Given the description of an element on the screen output the (x, y) to click on. 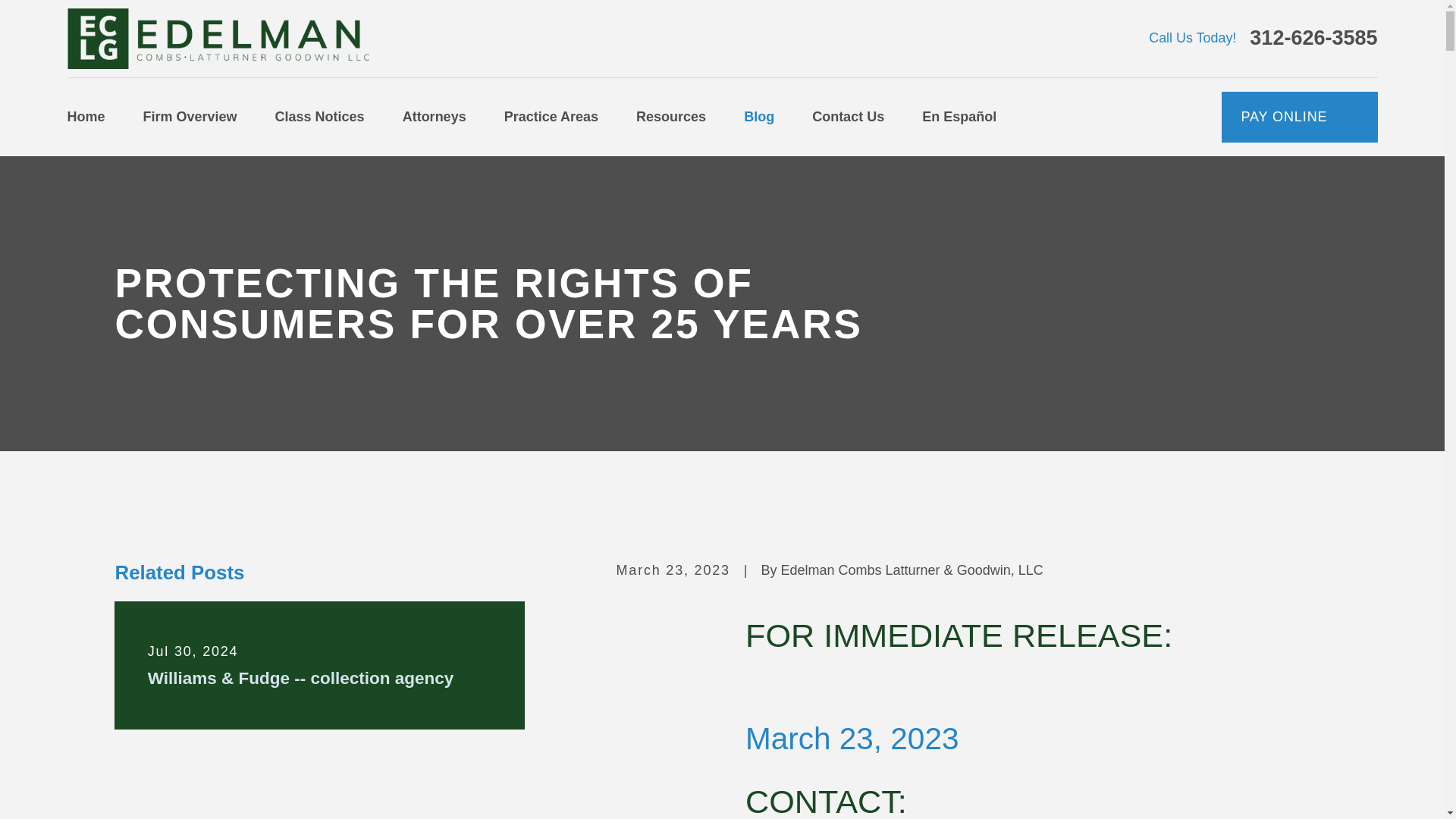
Home (217, 38)
Practice Areas (550, 117)
Class Notices (320, 117)
Home (85, 117)
Firm Overview (189, 117)
Attorneys (434, 117)
312-626-3585 (1313, 37)
